Given the description of an element on the screen output the (x, y) to click on. 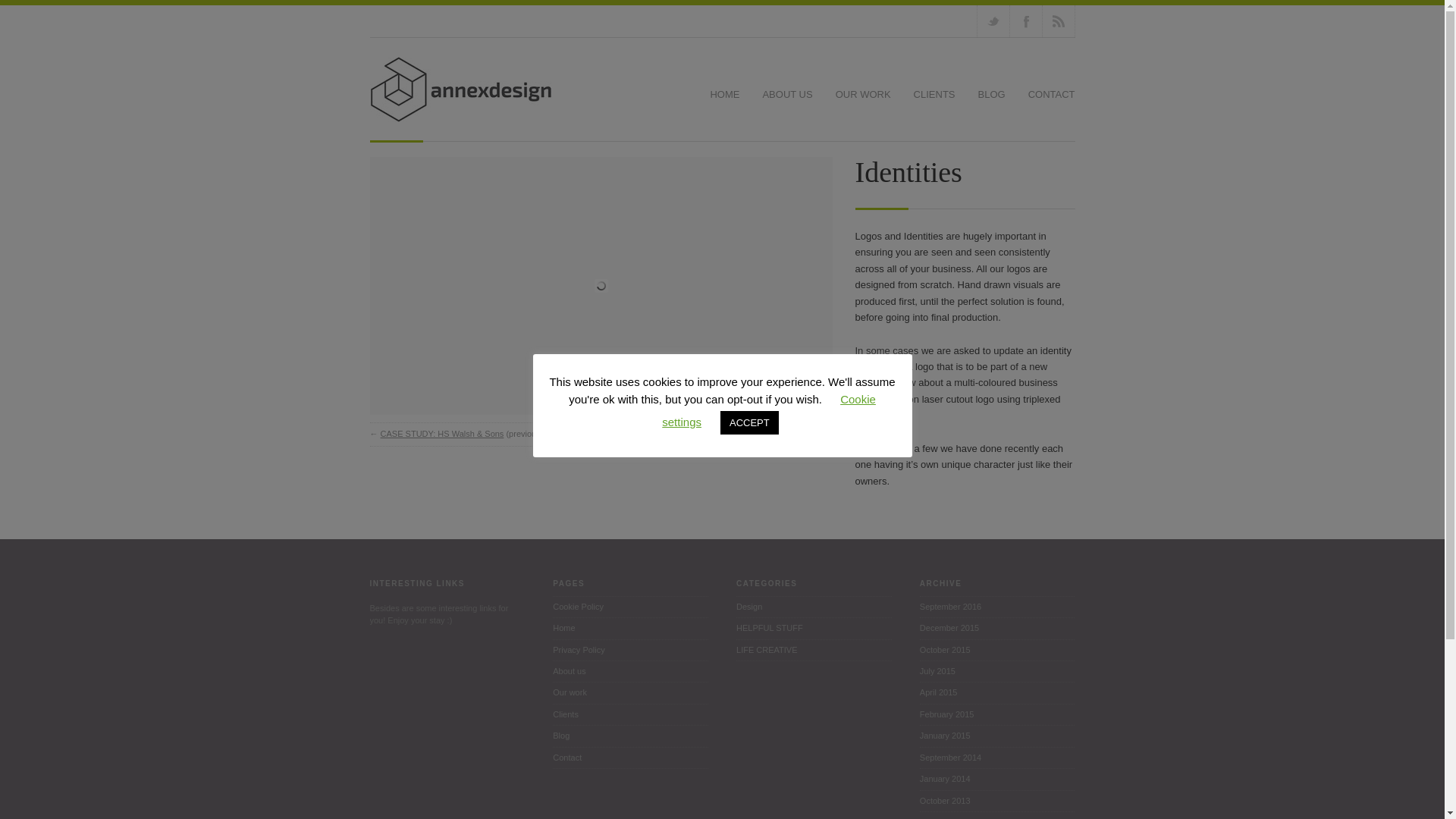
February 2015 (997, 714)
September 2014 (997, 758)
RSS (1058, 20)
December 2015 (997, 628)
Our work (630, 692)
CONTACT (1051, 95)
October 2013 (997, 801)
Design (813, 607)
ABOUT US (786, 95)
LIFE CREATIVE (813, 649)
